Given the description of an element on the screen output the (x, y) to click on. 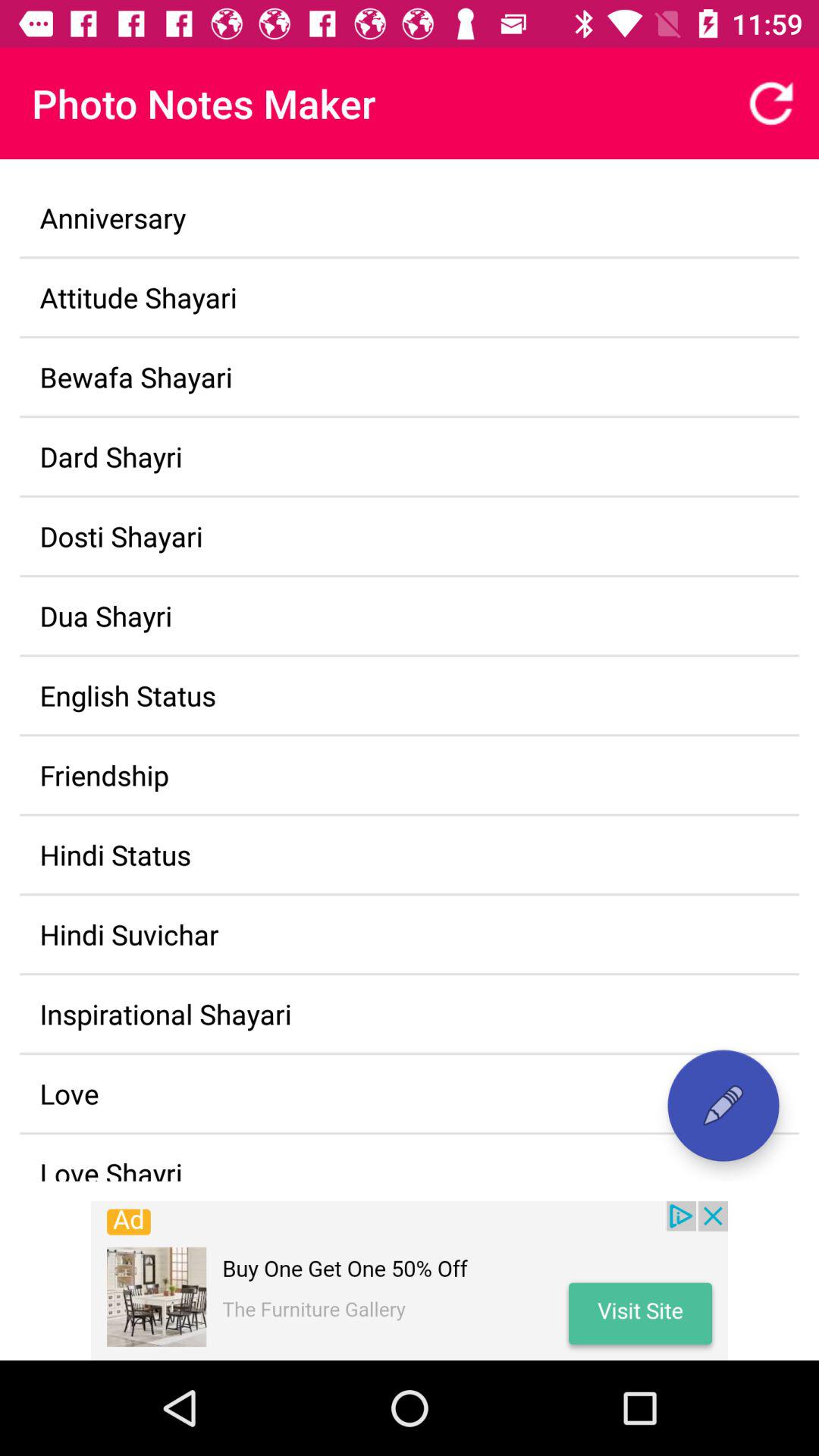
advertisement button (409, 1280)
